Given the description of an element on the screen output the (x, y) to click on. 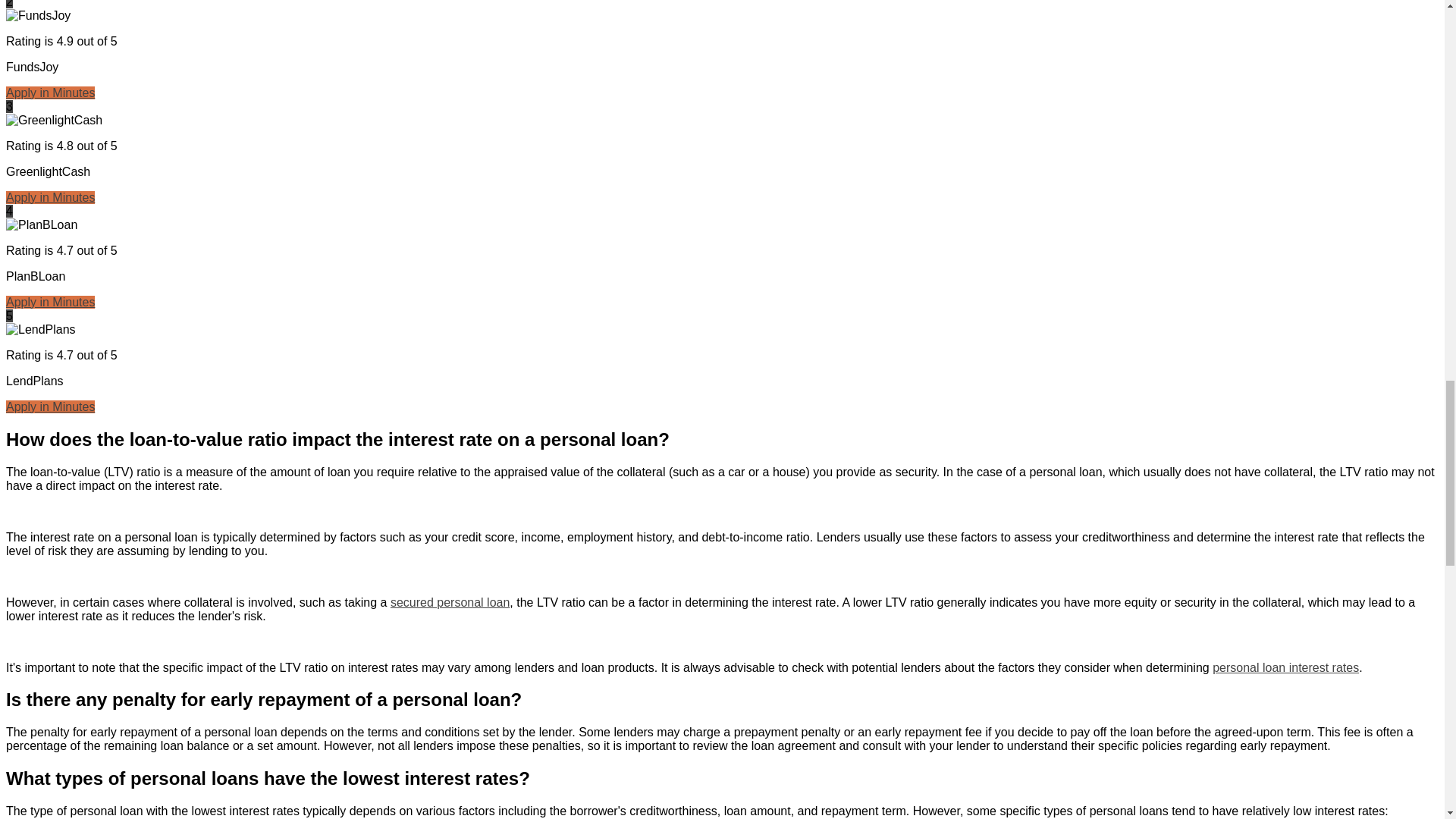
Apply in Minutes (49, 301)
Apply in Minutes (49, 406)
secured personal loan (449, 602)
Apply in Minutes (49, 196)
Apply in Minutes (49, 92)
personal loan interest rates (1285, 667)
